Given the description of an element on the screen output the (x, y) to click on. 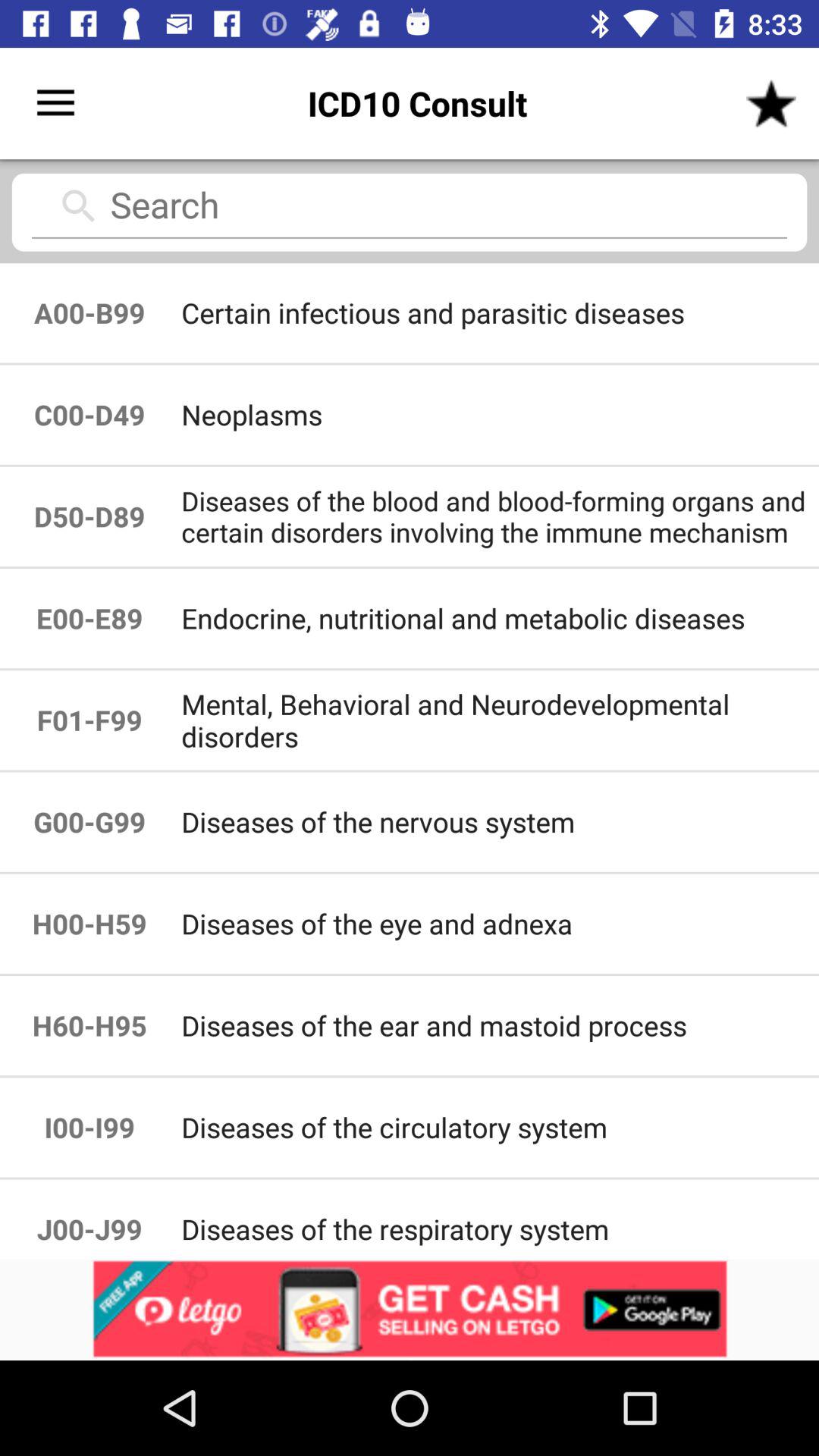
swipe until h60-h95 icon (89, 1025)
